Given the description of an element on the screen output the (x, y) to click on. 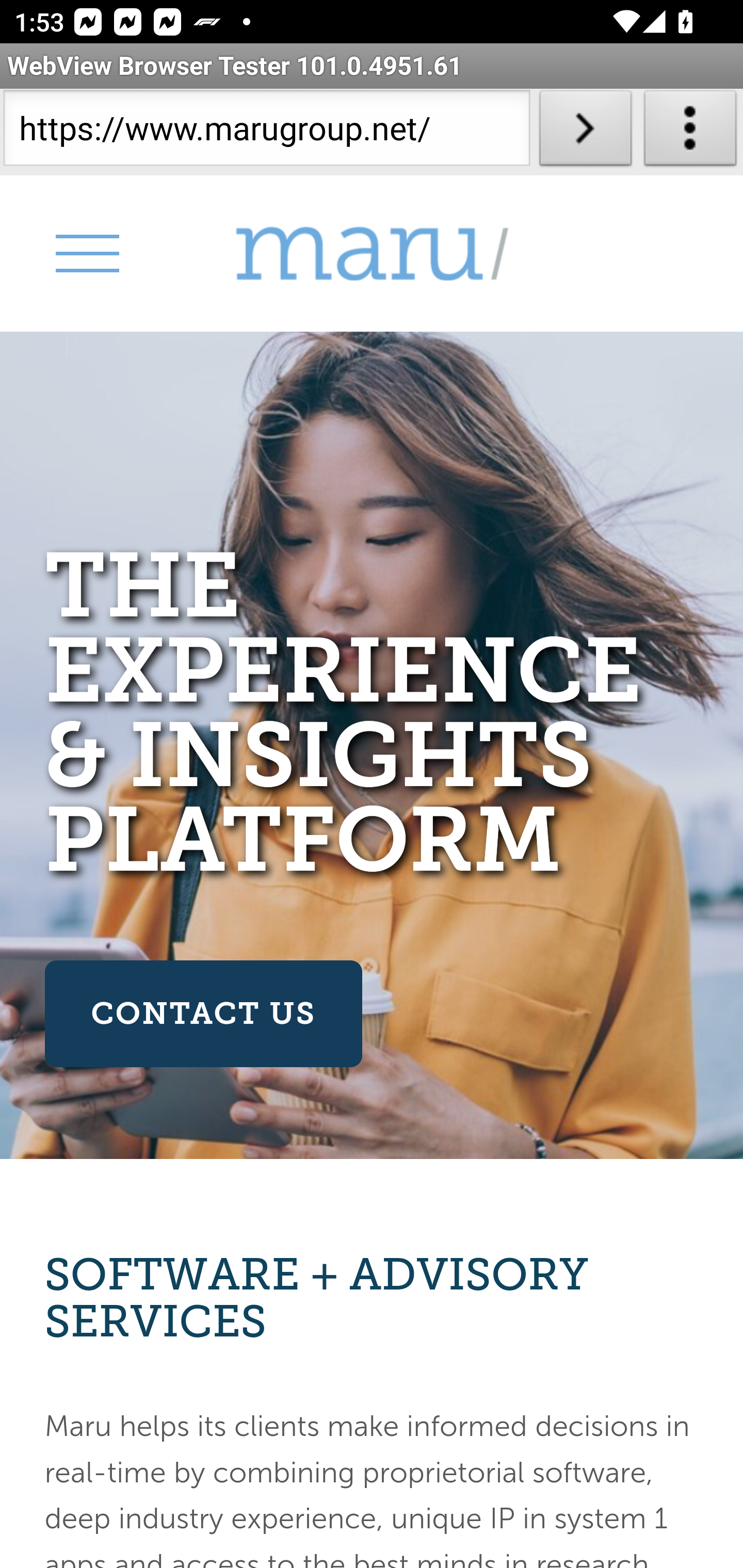
https://www.marugroup.net/ (266, 132)
Load URL (585, 132)
About WebView (690, 132)
Open Menu (86, 252)
Maru Group (371, 253)
CONTACT US (202, 1014)
